Given the description of an element on the screen output the (x, y) to click on. 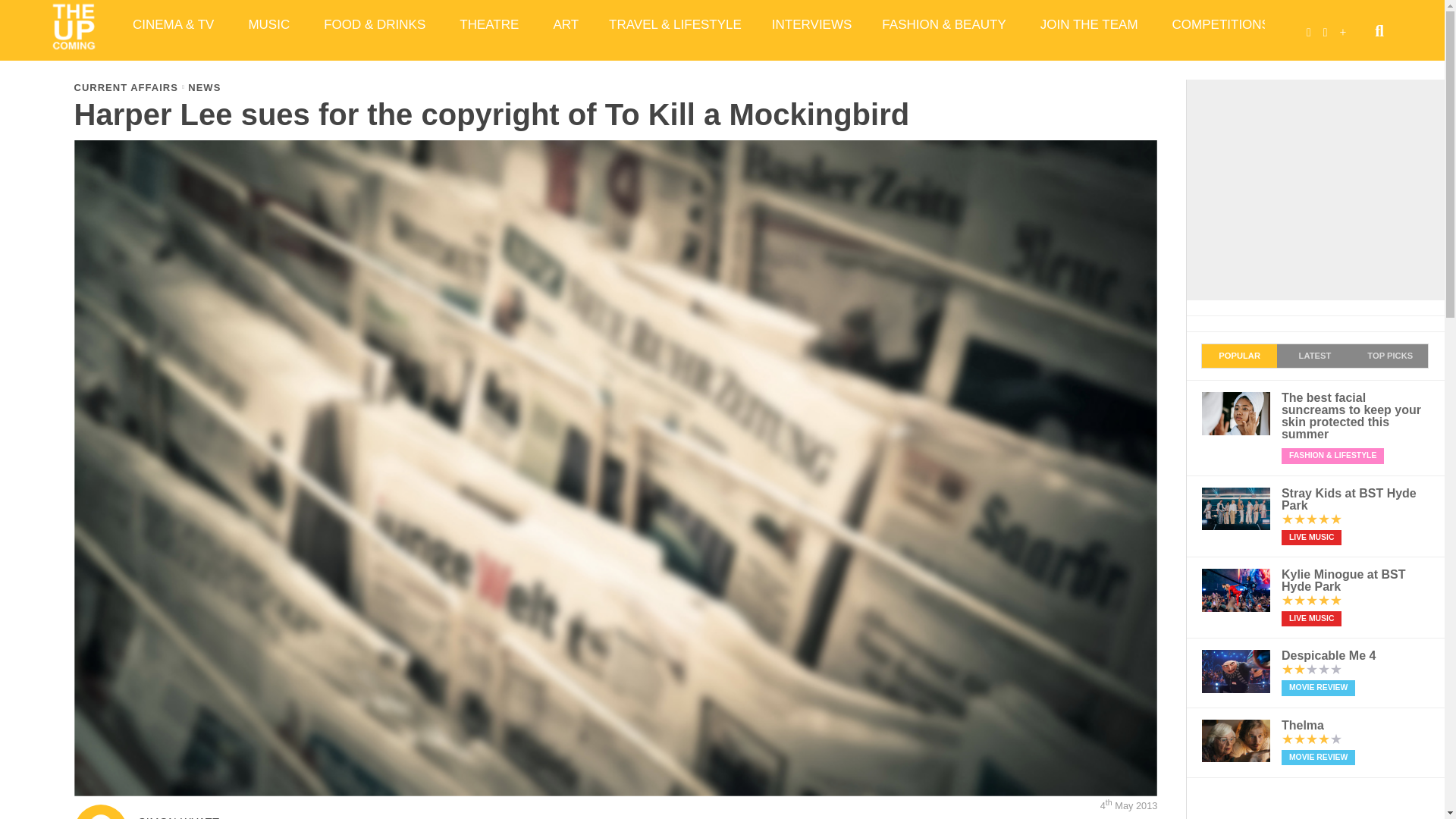
ART (565, 24)
THEATRE (490, 24)
JOIN THE TEAM (1091, 24)
INTERVIEWS (811, 24)
MUSIC (270, 24)
